Given the description of an element on the screen output the (x, y) to click on. 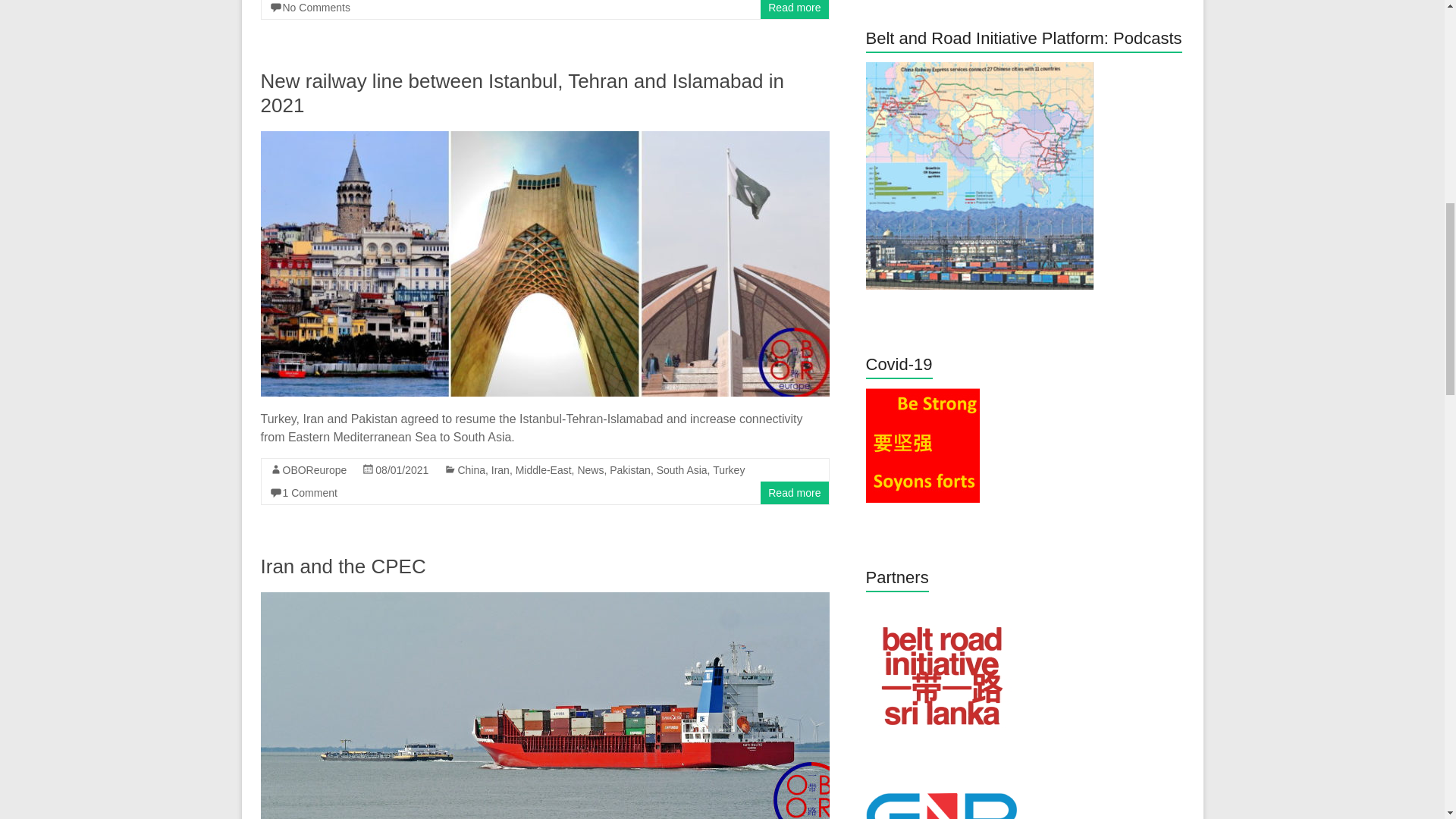
Iran and the CPEC (544, 599)
Iran and the CPEC (544, 705)
16:00 (401, 469)
Iran and the CPEC (343, 566)
